Given the description of an element on the screen output the (x, y) to click on. 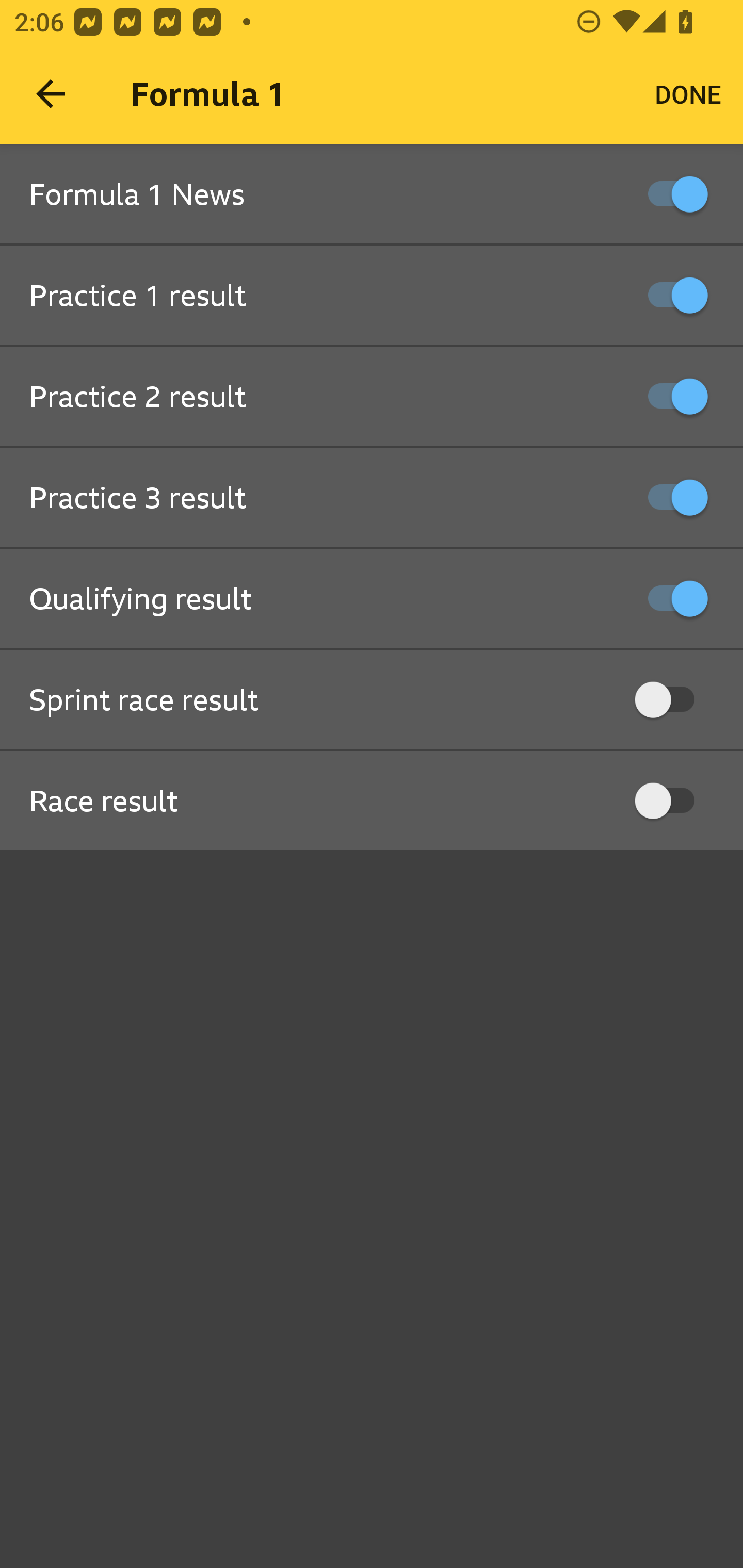
Navigate up (50, 93)
DONE (688, 93)
Formula 1 News, ON, Switch Formula 1 News (371, 195)
Practice 1 result, ON, Switch Practice 1 result (371, 296)
Practice 2 result, ON, Switch Practice 2 result (371, 397)
Practice 3 result, ON, Switch Practice 3 result (371, 498)
Qualifying result, ON, Switch Qualifying result (371, 598)
Sprint race result, ON, Switch Sprint race result (371, 700)
Race result, ON, Switch Race result (371, 801)
